Given the description of an element on the screen output the (x, y) to click on. 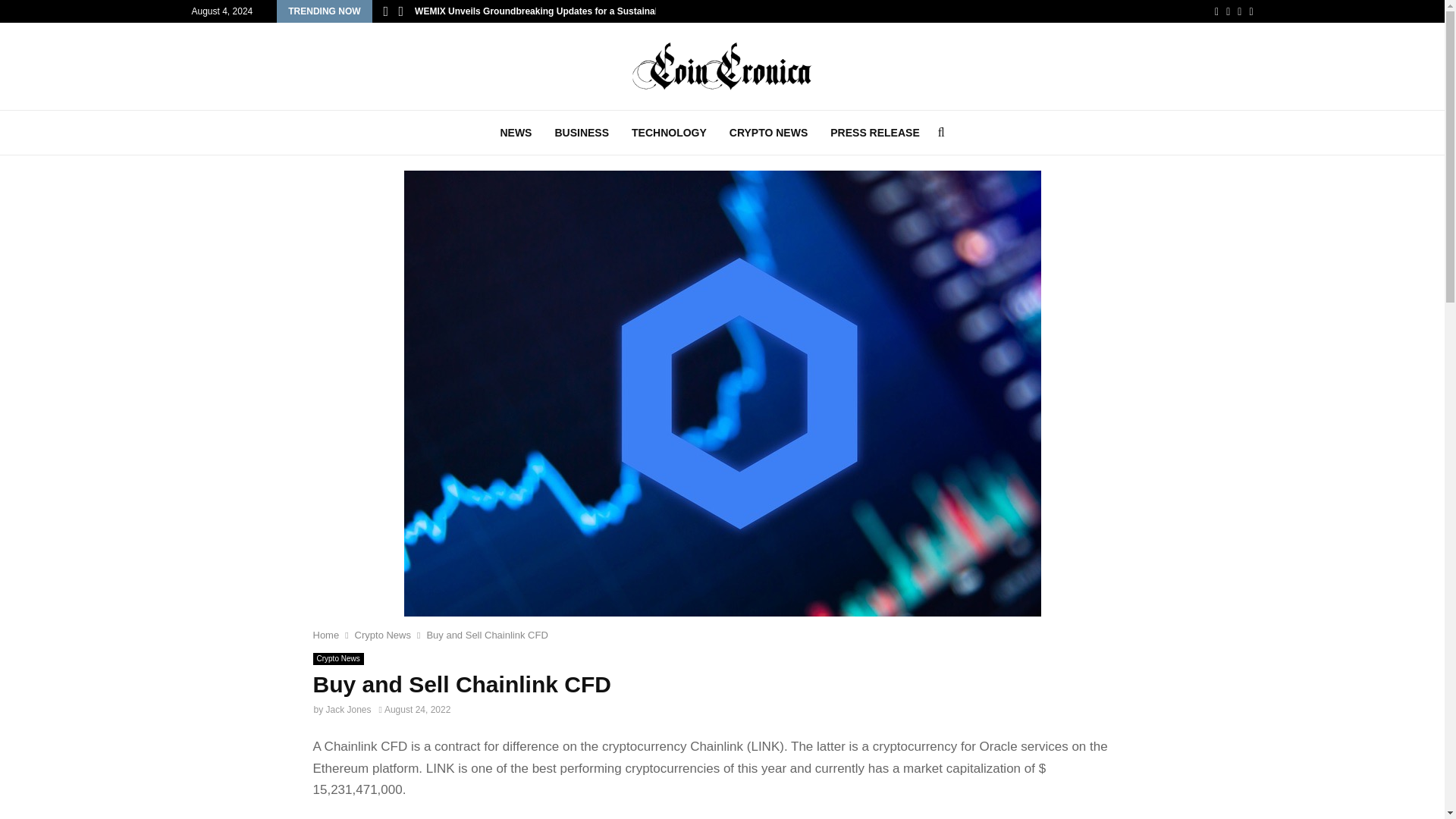
CRYPTO NEWS (768, 132)
BUSINESS (581, 132)
Crypto News (382, 634)
PRESS RELEASE (873, 132)
TECHNOLOGY (668, 132)
Home (326, 634)
